Given the description of an element on the screen output the (x, y) to click on. 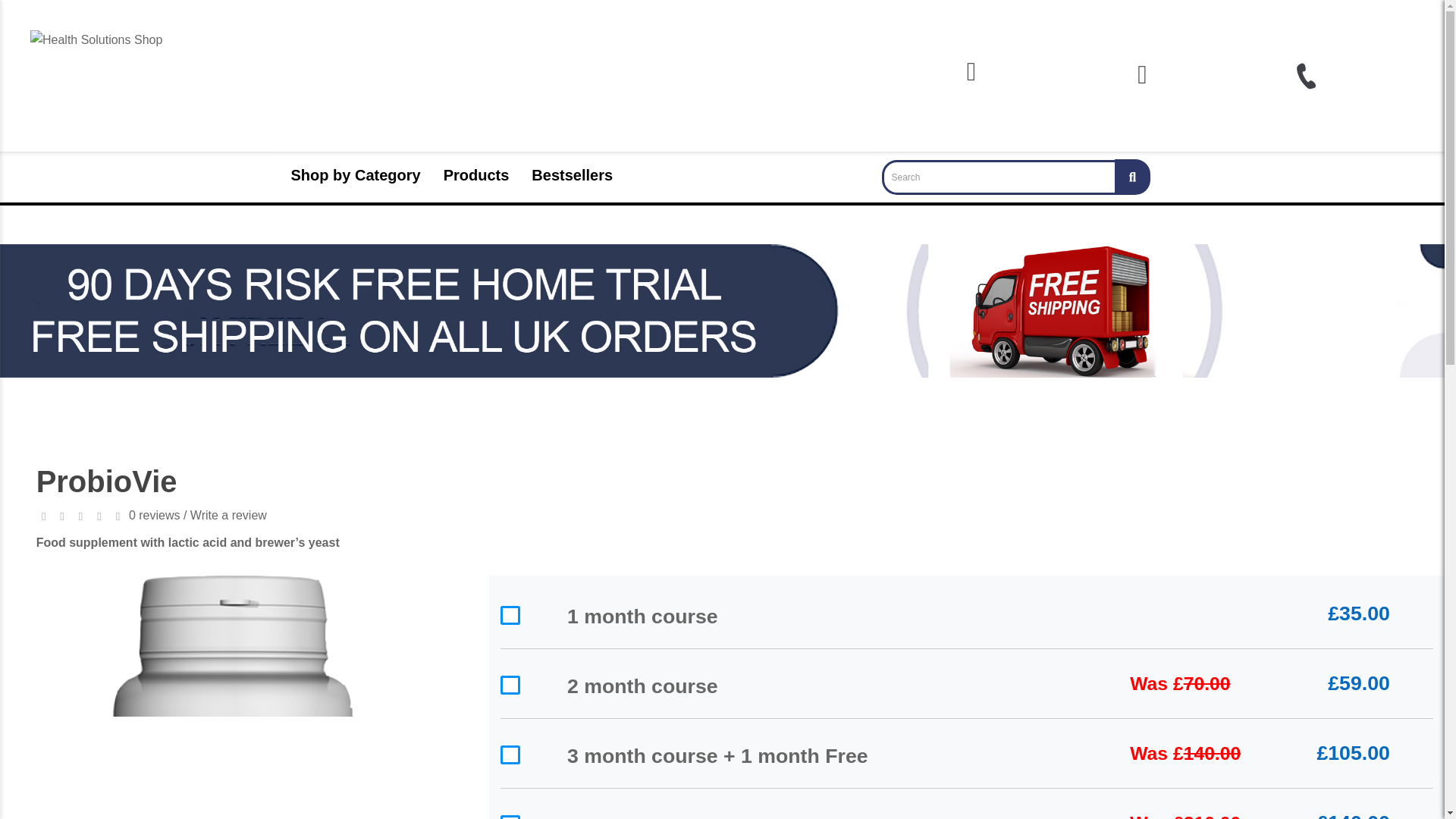
177 (509, 754)
Health Solutions Shop (95, 64)
176 (509, 684)
178 (509, 816)
175 (509, 615)
